Given the description of an element on the screen output the (x, y) to click on. 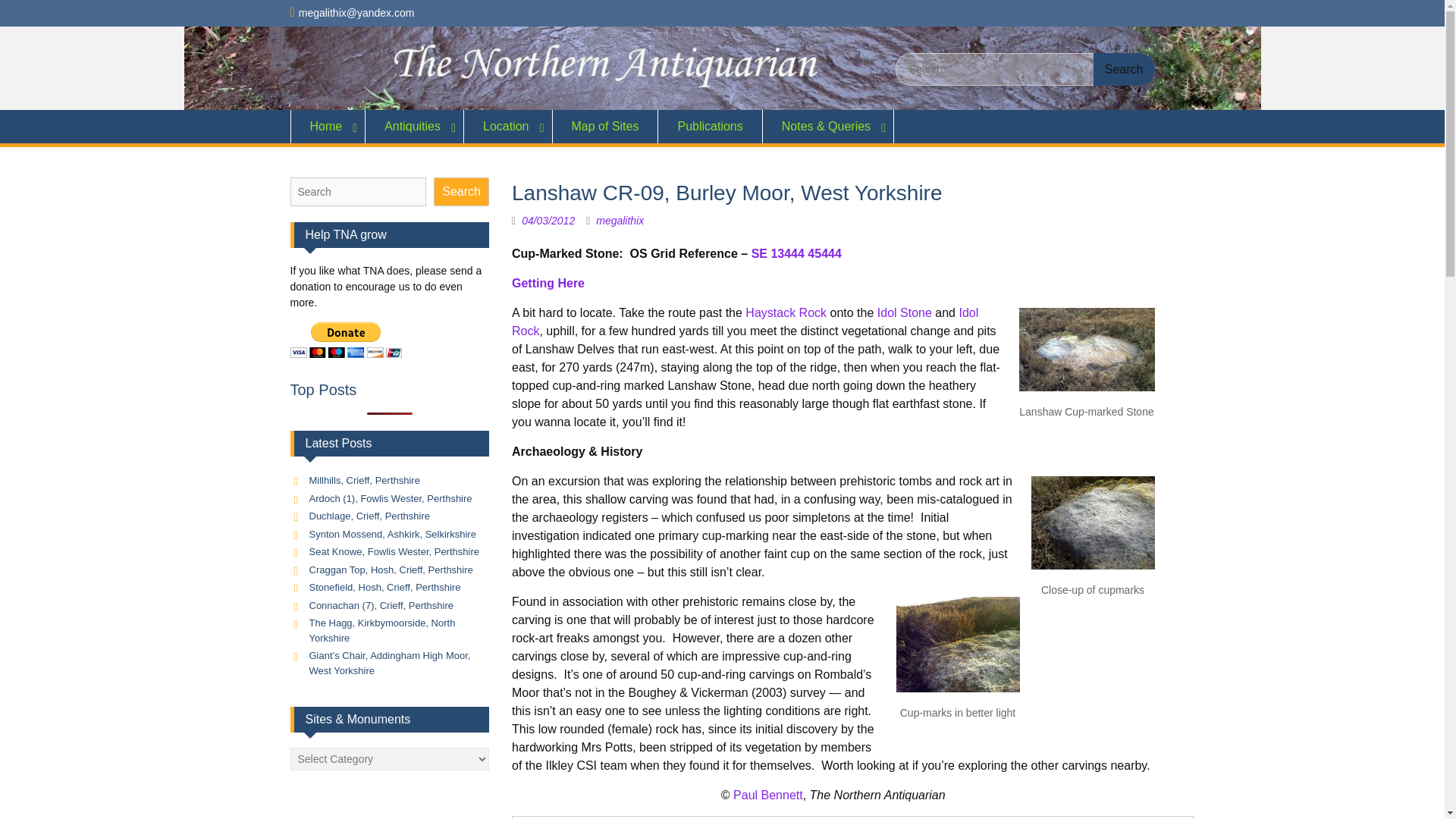
Search (1123, 69)
Lanshaw cupmark163 (1086, 349)
Search (1123, 69)
Lanshaw cupmark162 (1092, 522)
Location (508, 126)
Home (327, 126)
Antiquities (414, 126)
Lanshaw cupstone089 (958, 644)
Search for: (1024, 69)
Search (1123, 69)
